Given the description of an element on the screen output the (x, y) to click on. 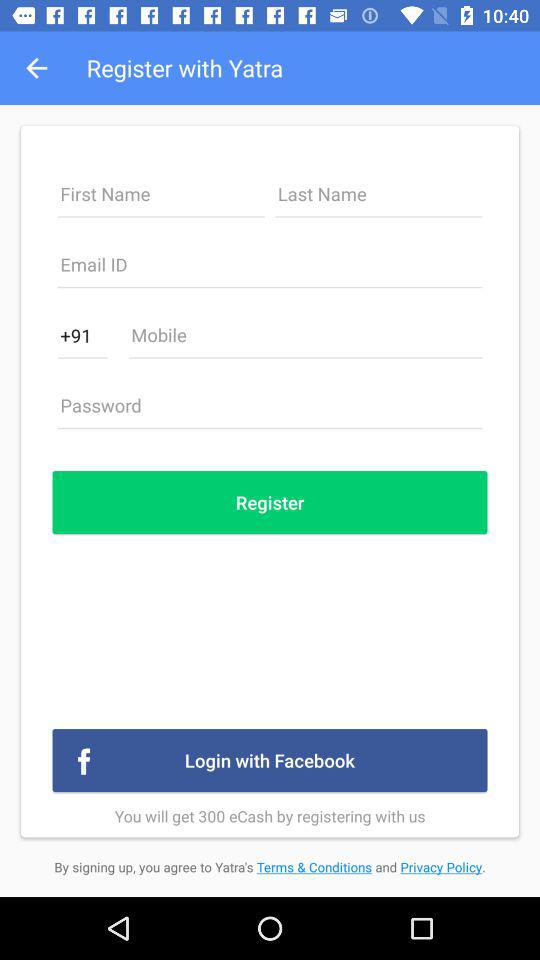
go back (269, 270)
